Given the description of an element on the screen output the (x, y) to click on. 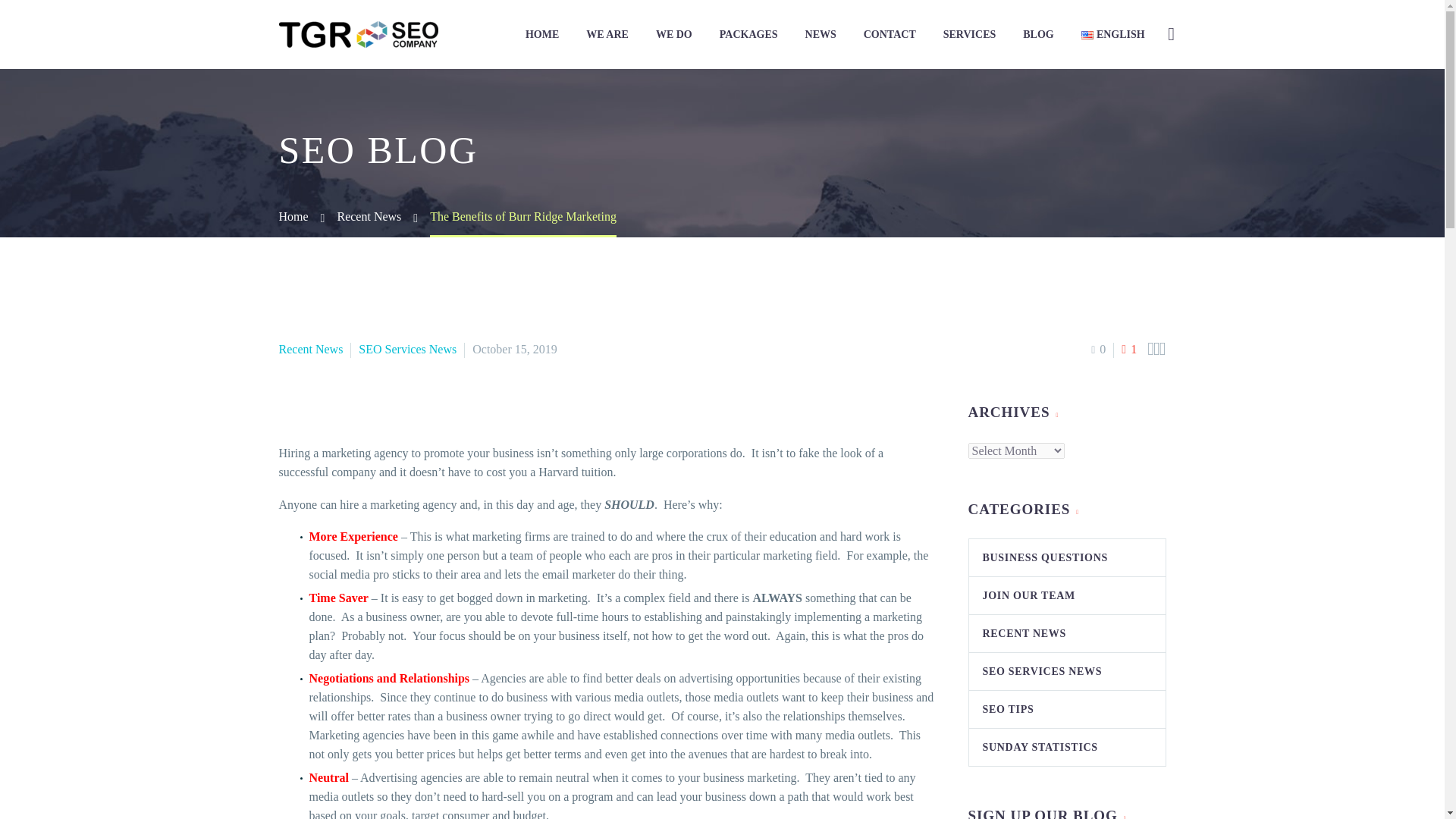
SEO Services News (407, 349)
English (1087, 35)
NEWS (820, 34)
0 (1097, 349)
Recent News (368, 215)
Home (293, 215)
PACKAGES (748, 34)
WE ARE (607, 34)
View all posts in Recent News (311, 349)
Recent News (311, 349)
